Given the description of an element on the screen output the (x, y) to click on. 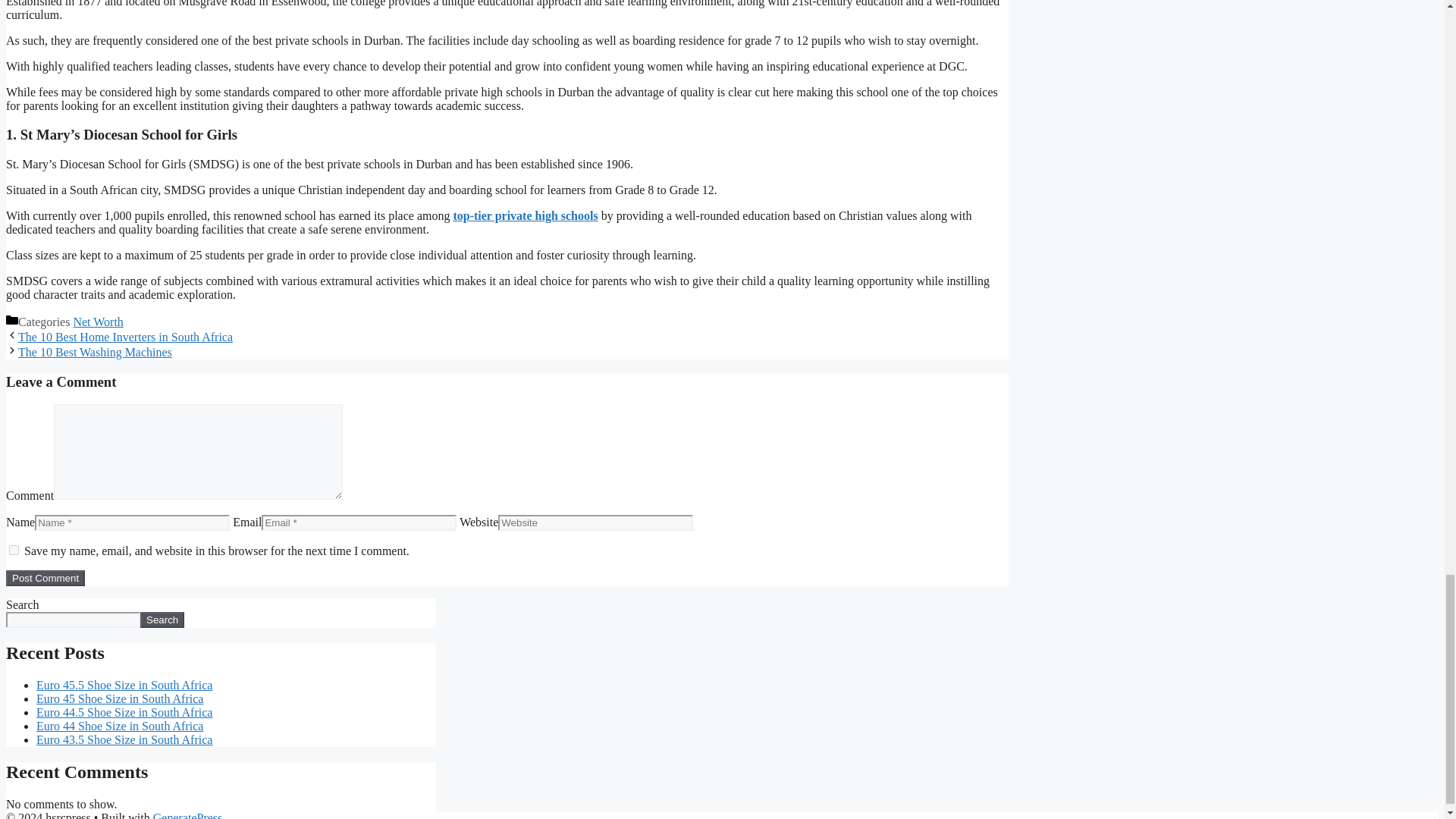
Search (161, 619)
yes (13, 550)
Euro 43.5 Shoe Size in South Africa (124, 739)
The 10 Best Washing Machines (94, 351)
Euro 45.5 Shoe Size in South Africa (124, 684)
Post Comment (44, 578)
top-tier private high schools (524, 215)
The 10 Best Home Inverters in South Africa (124, 336)
Post Comment (44, 578)
Euro 45 Shoe Size in South Africa (119, 698)
Euro 44.5 Shoe Size in South Africa (124, 712)
Net Worth (97, 321)
Euro 44 Shoe Size in South Africa (119, 725)
